Given the description of an element on the screen output the (x, y) to click on. 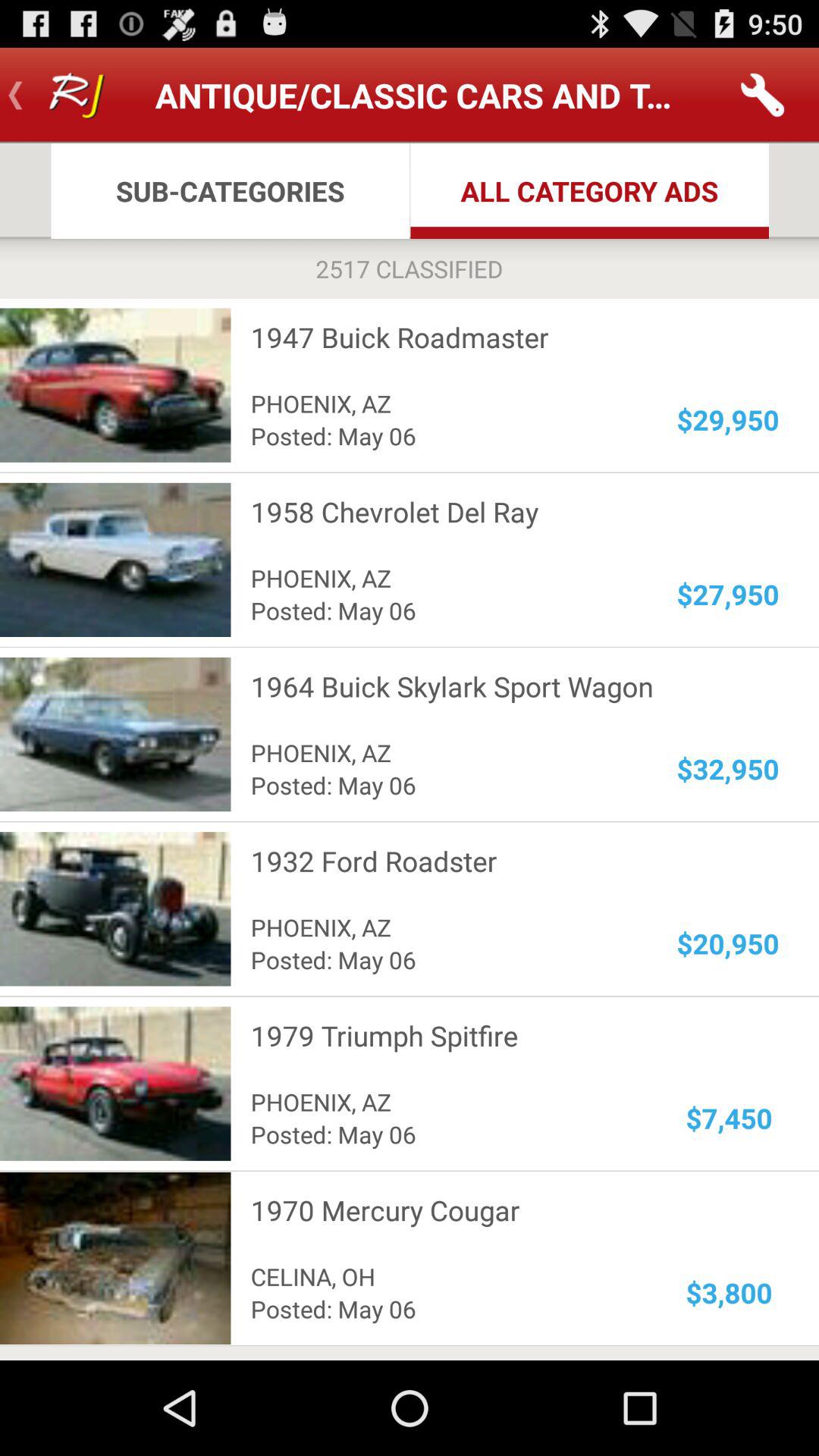
turn off the app to the right of antique classic cars app (763, 95)
